Given the description of an element on the screen output the (x, y) to click on. 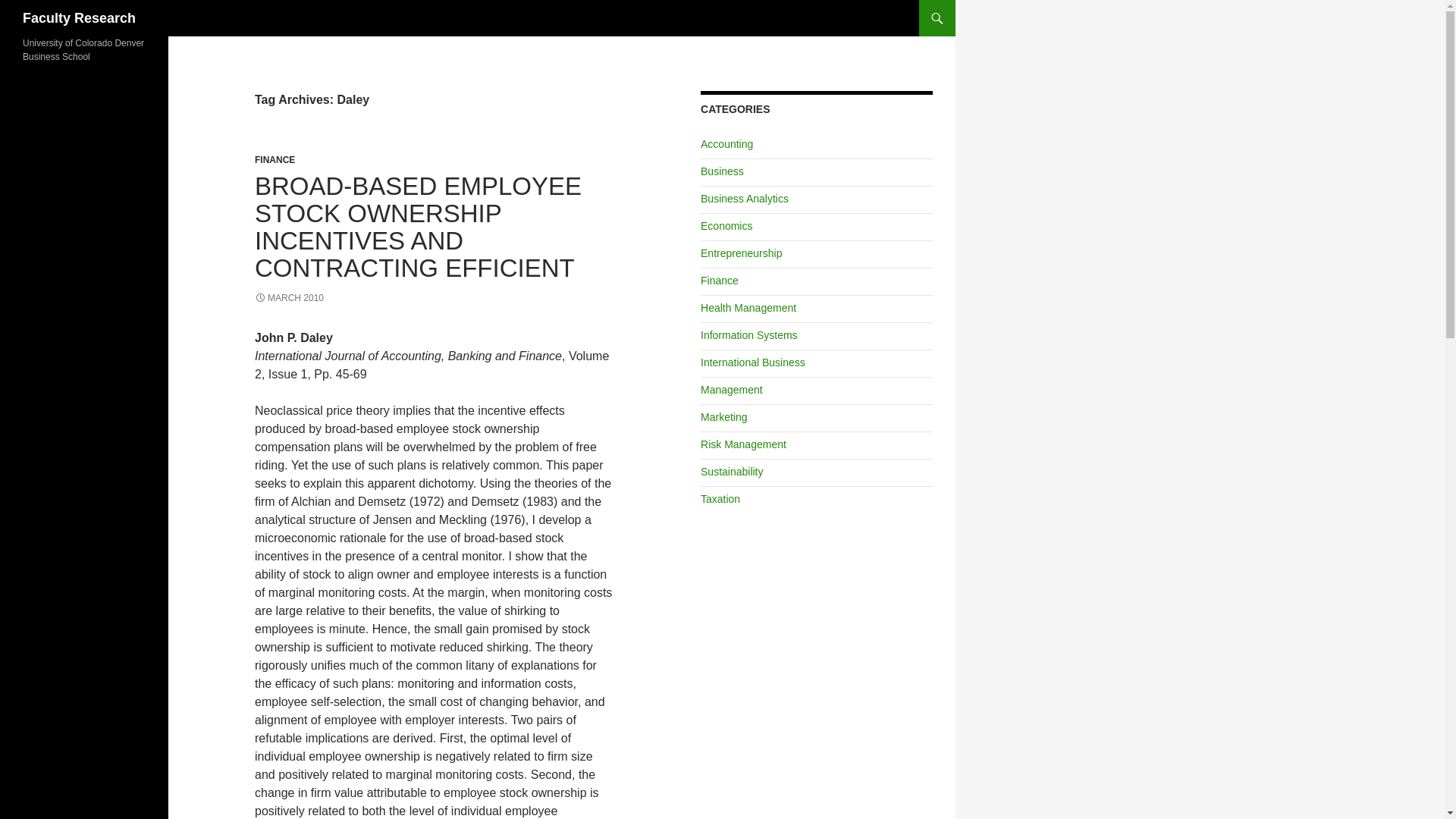
Economics (726, 225)
International Business (752, 362)
Management (731, 389)
Health Management (748, 307)
Information Systems (748, 335)
Business Analytics (744, 198)
Marketing (723, 417)
Business (722, 171)
Entrepreneurship (740, 253)
